Given the description of an element on the screen output the (x, y) to click on. 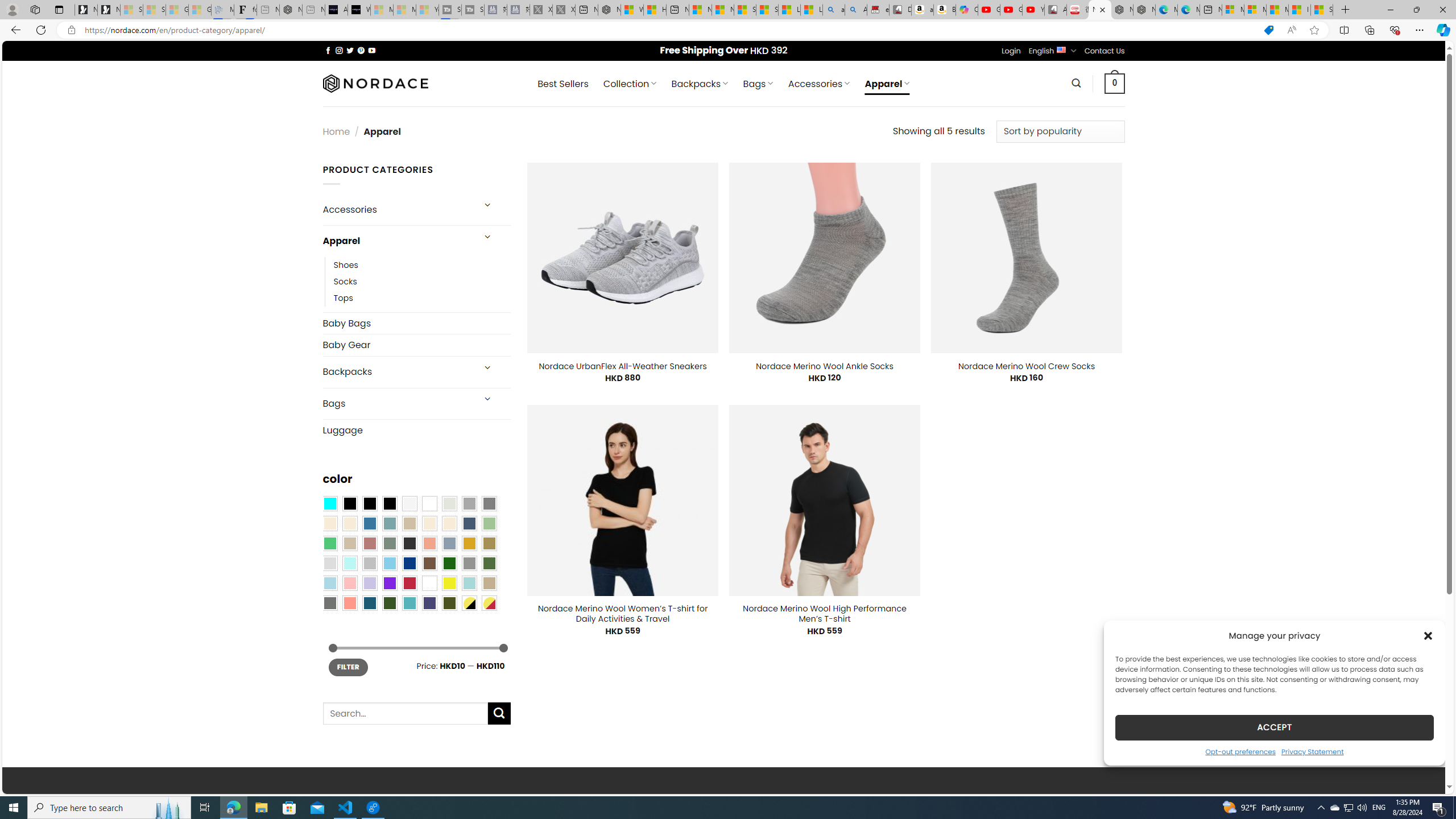
Opt-out preferences (1240, 750)
Teal (408, 602)
Yellow (449, 582)
Beige (329, 522)
Dark Gray (468, 503)
Socks (422, 280)
